Given the description of an element on the screen output the (x, y) to click on. 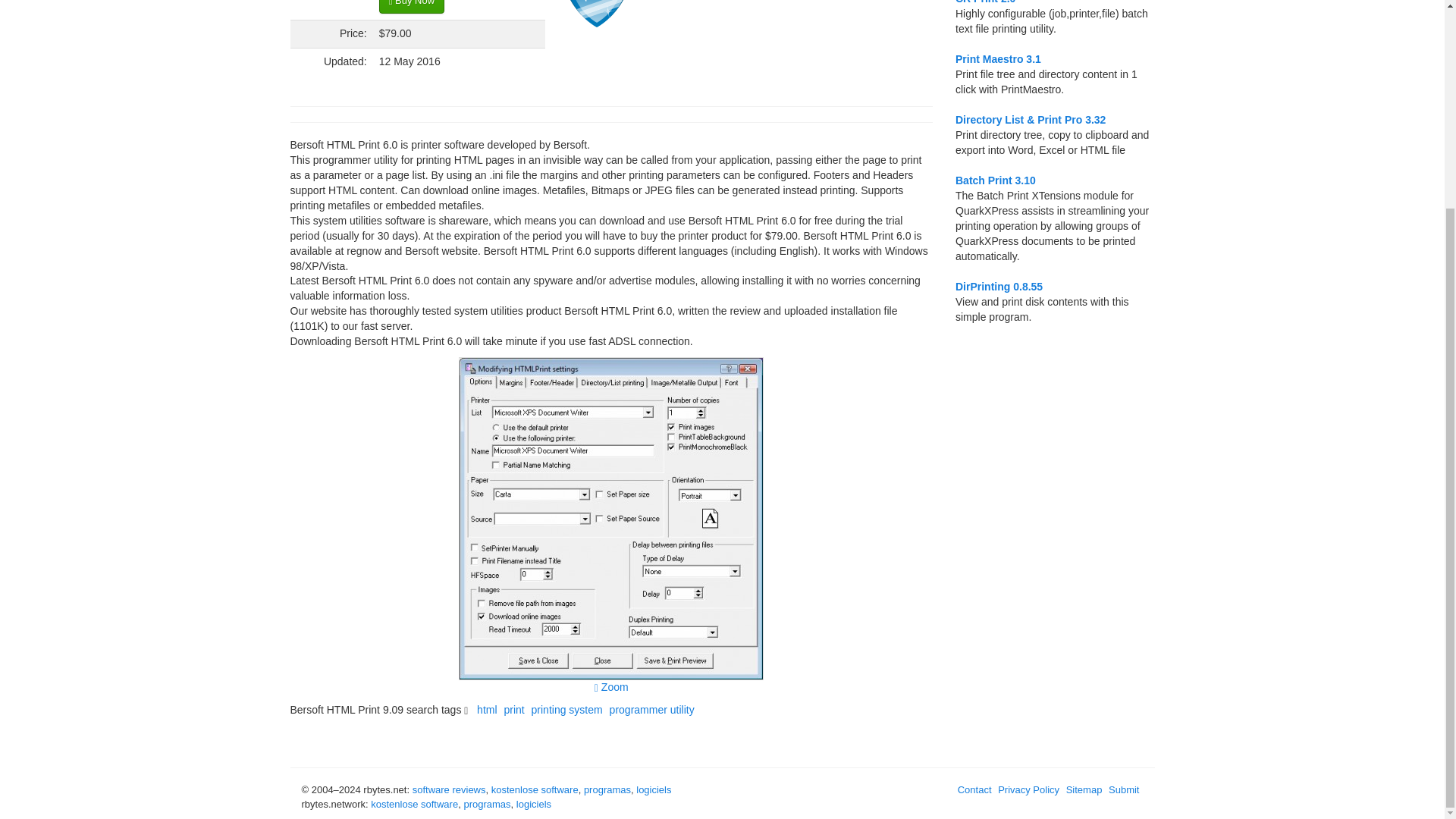
programmer utility (654, 709)
CR Print 2.0 (984, 2)
CR Print 2.0 review (984, 2)
Privacy Policy (1029, 789)
Submit (1125, 789)
DirPrinting 0.8.55 review (998, 286)
Purchase Bersoft HTML Print (411, 6)
software reviews (449, 789)
logiciels (533, 803)
programas (487, 803)
html (488, 709)
Print Maestro 3.1 (998, 59)
Batch Print 3.10 review (995, 180)
kostenlose software (535, 789)
5 stars award from rbytes.net (596, 13)
